Given the description of an element on the screen output the (x, y) to click on. 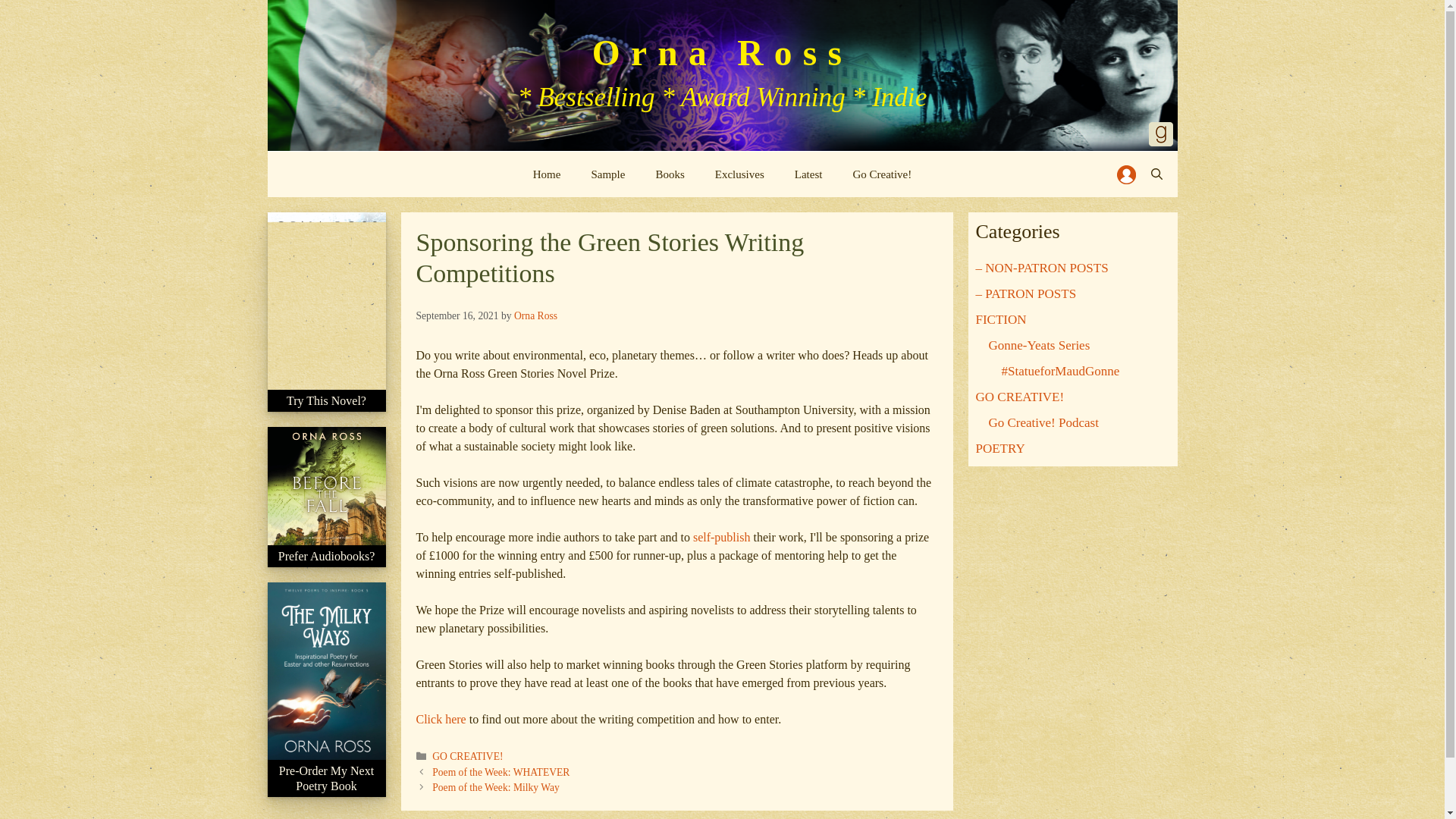
Click here (439, 718)
My Account (1125, 174)
Orna Ross (535, 315)
Try This Novel? (325, 409)
Latest (808, 174)
GO CREATIVE! (1019, 396)
Books (669, 174)
Prefer Audiobooks? (325, 564)
self-publish (722, 536)
Pre-Order My Next Poetry Book (325, 787)
Home (547, 174)
FICTION (1000, 319)
Go Creative! Podcast (1043, 422)
GO CREATIVE! (467, 756)
Orna Ross (721, 52)
